Given the description of an element on the screen output the (x, y) to click on. 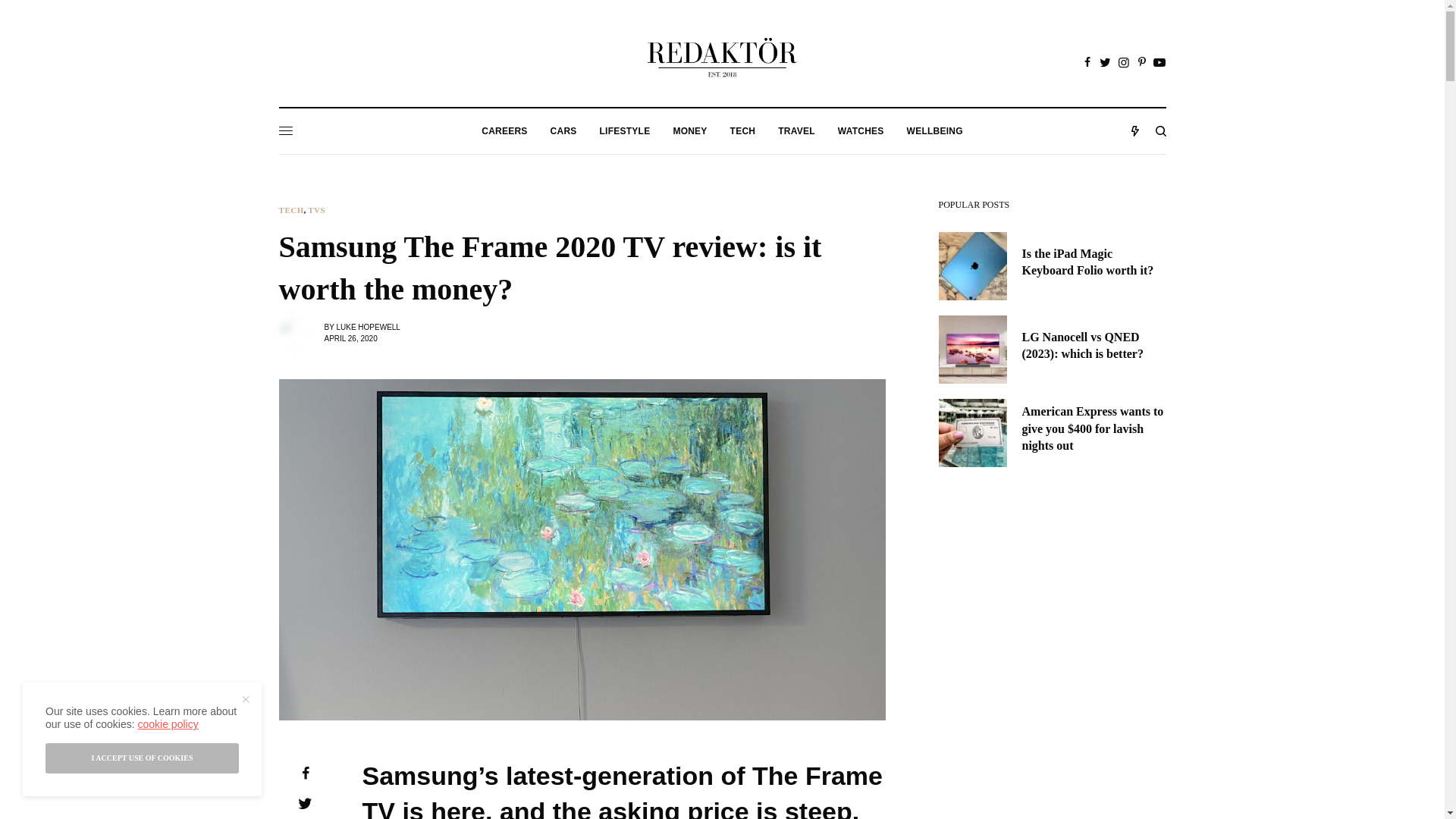
Posts by Luke Hopewell (367, 326)
CAREERS (504, 130)
WELLBEING (934, 130)
WATCHES (860, 130)
LIFESTYLE (624, 130)
TECH (291, 210)
Is the iPad Magic Keyboard Folio worth it? (1094, 262)
LUKE HOPEWELL (367, 326)
TVS (315, 210)
